Given the description of an element on the screen output the (x, y) to click on. 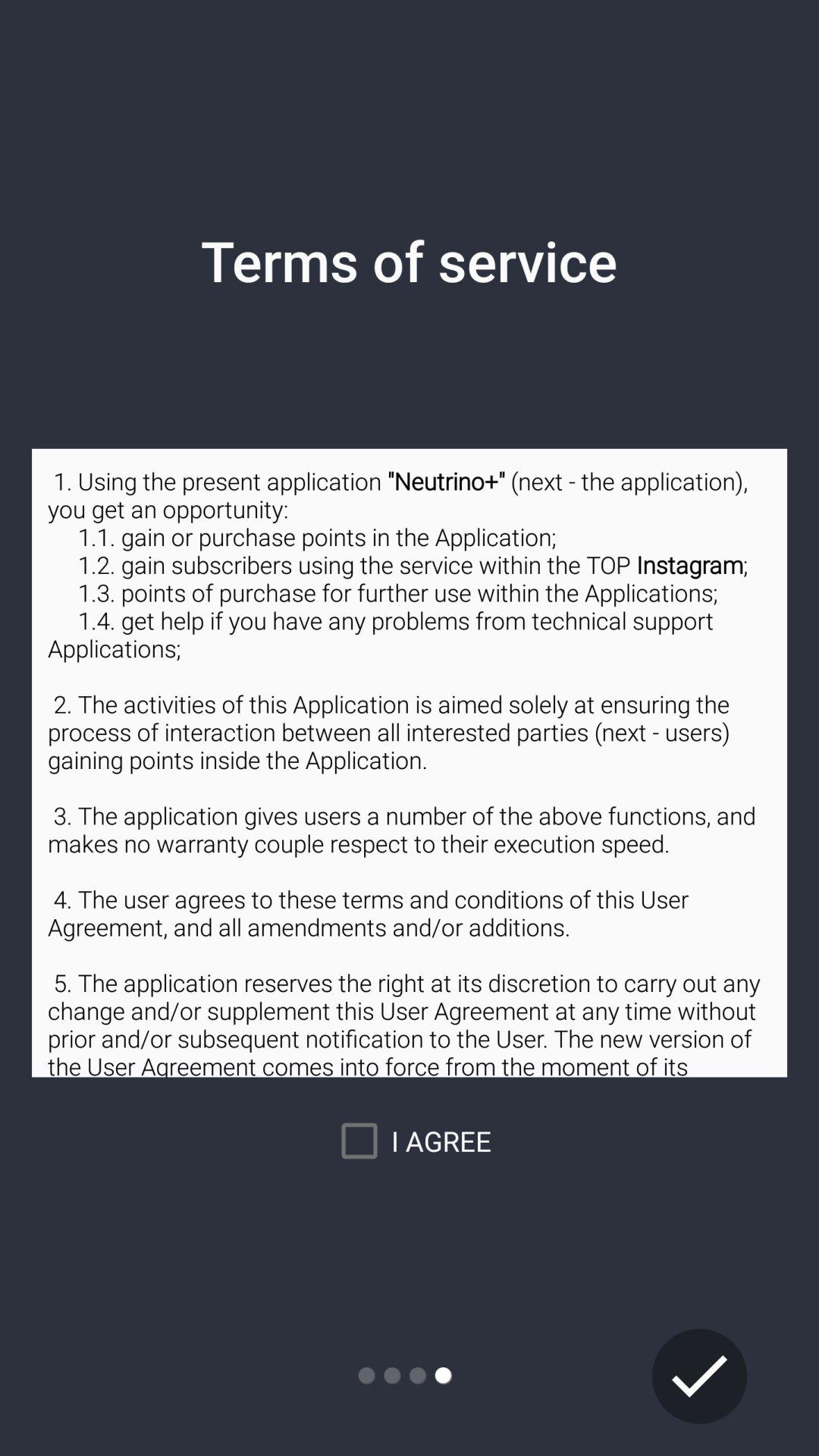
submit the page (699, 1376)
